Given the description of an element on the screen output the (x, y) to click on. 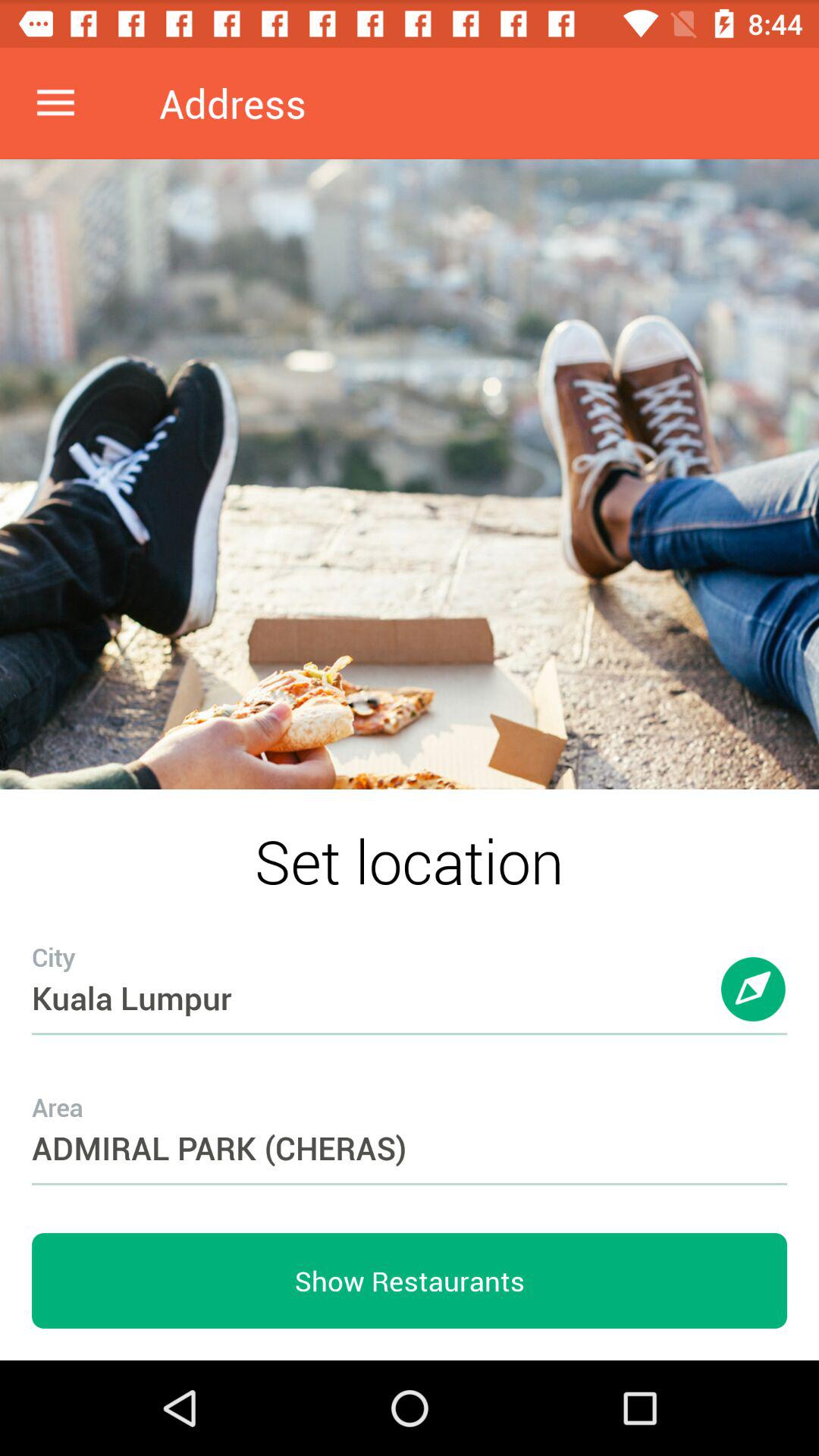
click location (754, 1004)
